Given the description of an element on the screen output the (x, y) to click on. 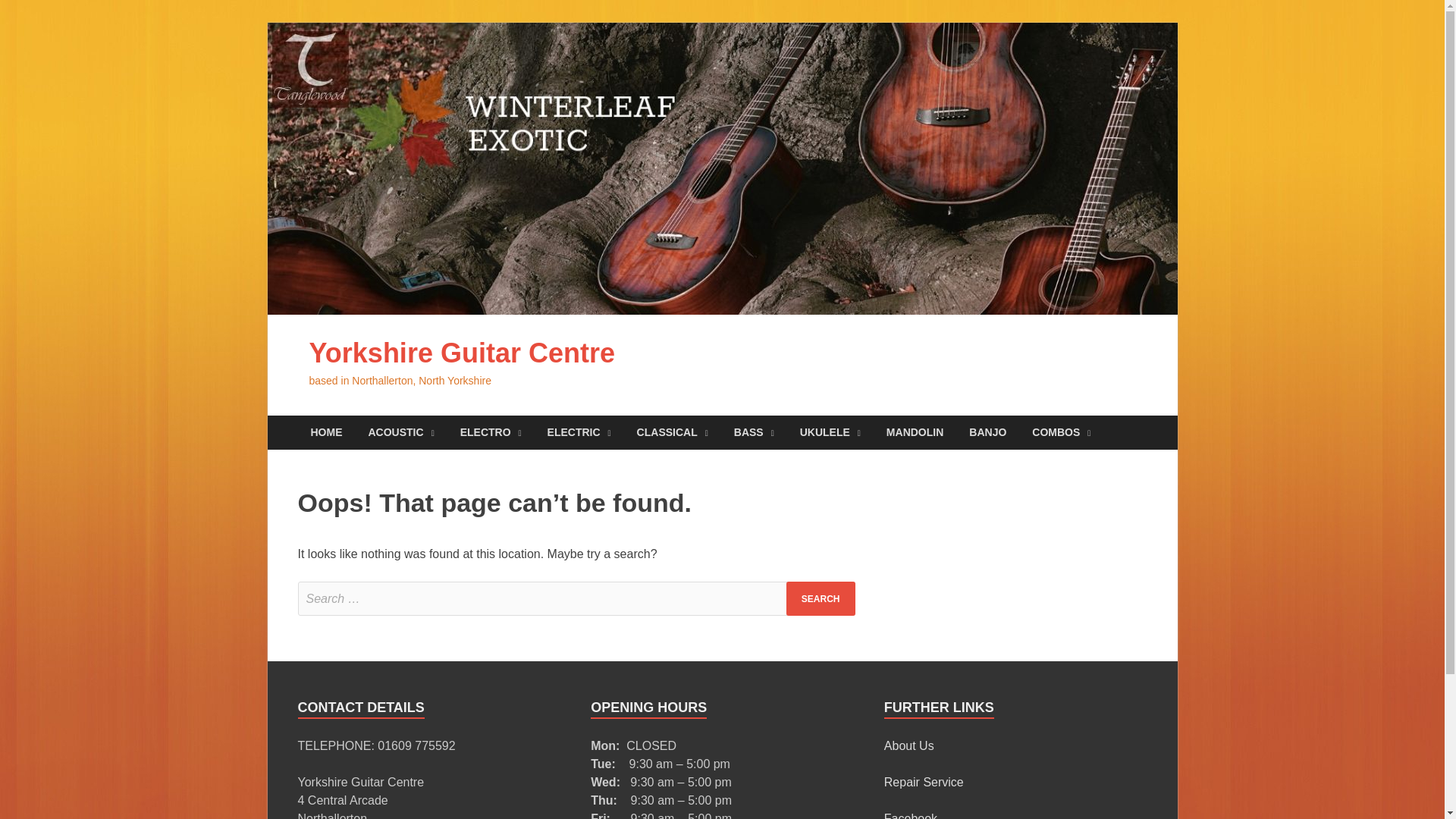
Search (821, 598)
Combos (1061, 432)
HOME (326, 432)
Search (821, 598)
Yorkshire Guitar Centre (461, 352)
ACOUSTIC (400, 432)
ELECTRO (490, 432)
ELECTRIC (579, 432)
